Given the description of an element on the screen output the (x, y) to click on. 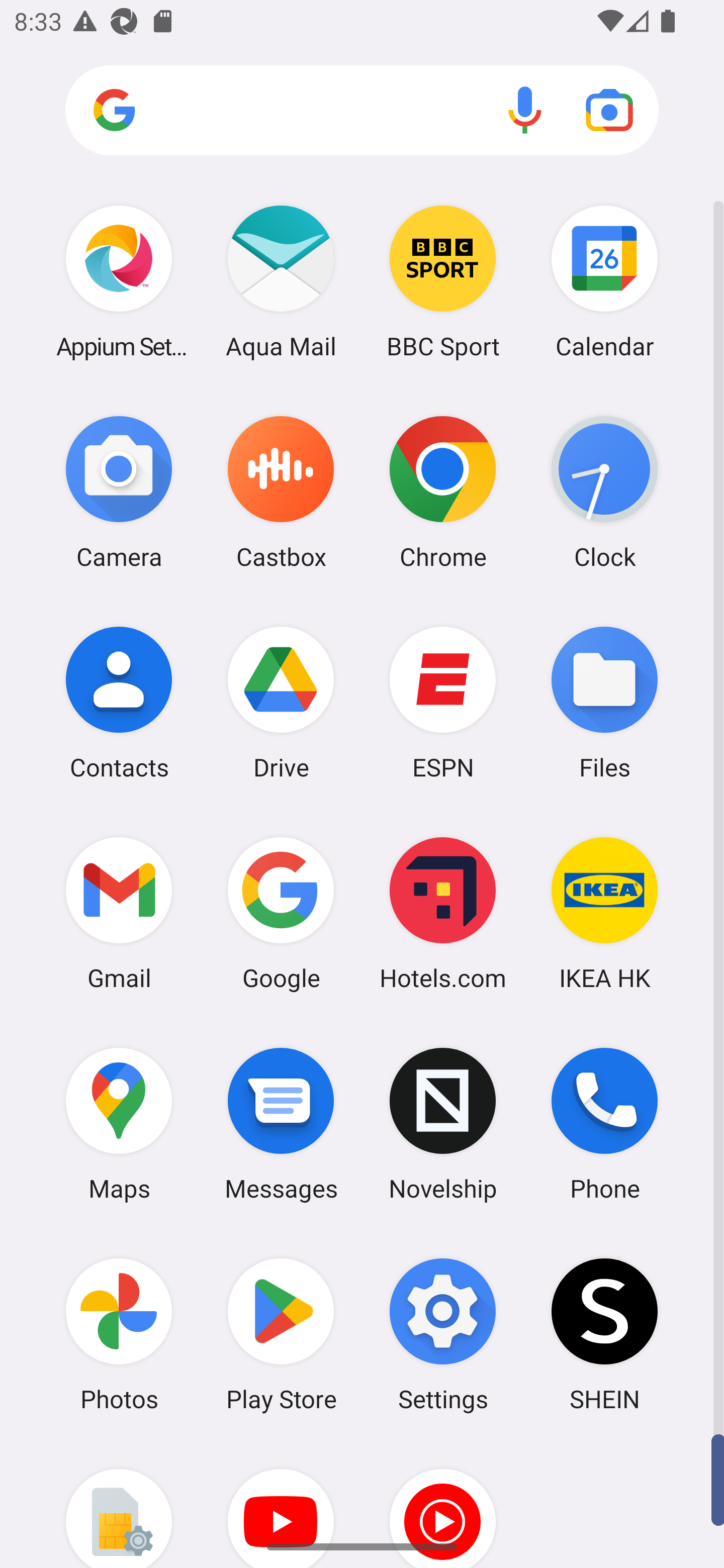
Search apps, web and more (361, 110)
Voice search (524, 109)
Google Lens (608, 109)
Appium Settings (118, 281)
Aqua Mail (280, 281)
BBC Sport (443, 281)
Calendar (604, 281)
Camera (118, 492)
Castbox (280, 492)
Chrome (443, 492)
Clock (604, 492)
Contacts (118, 702)
Drive (280, 702)
ESPN (443, 702)
Files (604, 702)
Gmail (118, 913)
Google (280, 913)
Hotels.com (443, 913)
IKEA HK (604, 913)
Maps (118, 1124)
Messages (280, 1124)
Novelship (443, 1124)
Phone (604, 1124)
Photos (118, 1334)
Play Store (280, 1334)
Settings (443, 1334)
SHEIN (604, 1334)
TMoble (118, 1503)
YouTube (280, 1503)
YT Music (443, 1503)
